Given the description of an element on the screen output the (x, y) to click on. 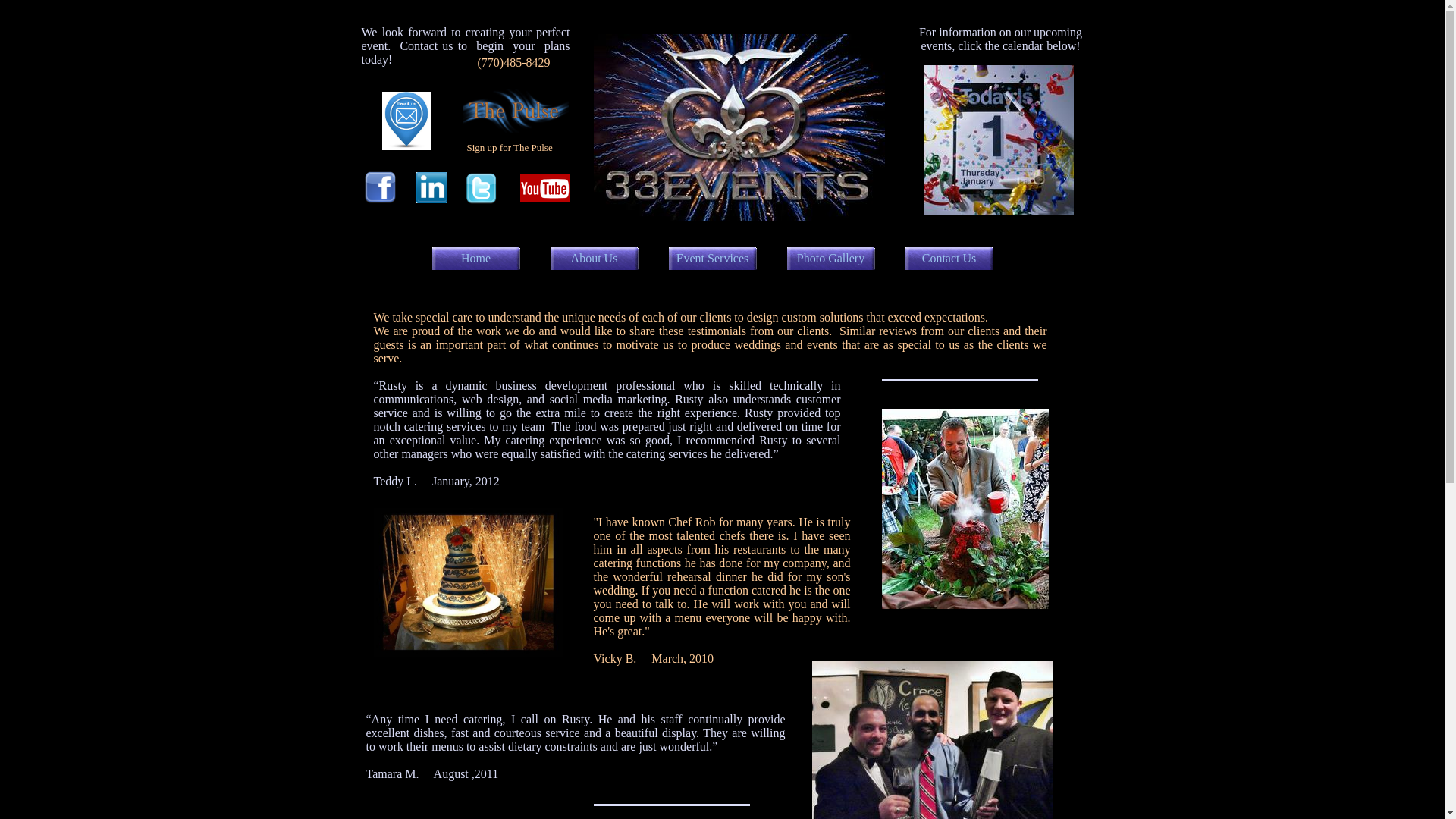
Home Element type: text (476, 258)
Sign up for The Pulse Element type: text (509, 147)
Event Services Element type: text (712, 258)
Photo Gallery Element type: text (831, 258)
Contact Us Element type: text (949, 258)
About Us Element type: text (594, 258)
